Given the description of an element on the screen output the (x, y) to click on. 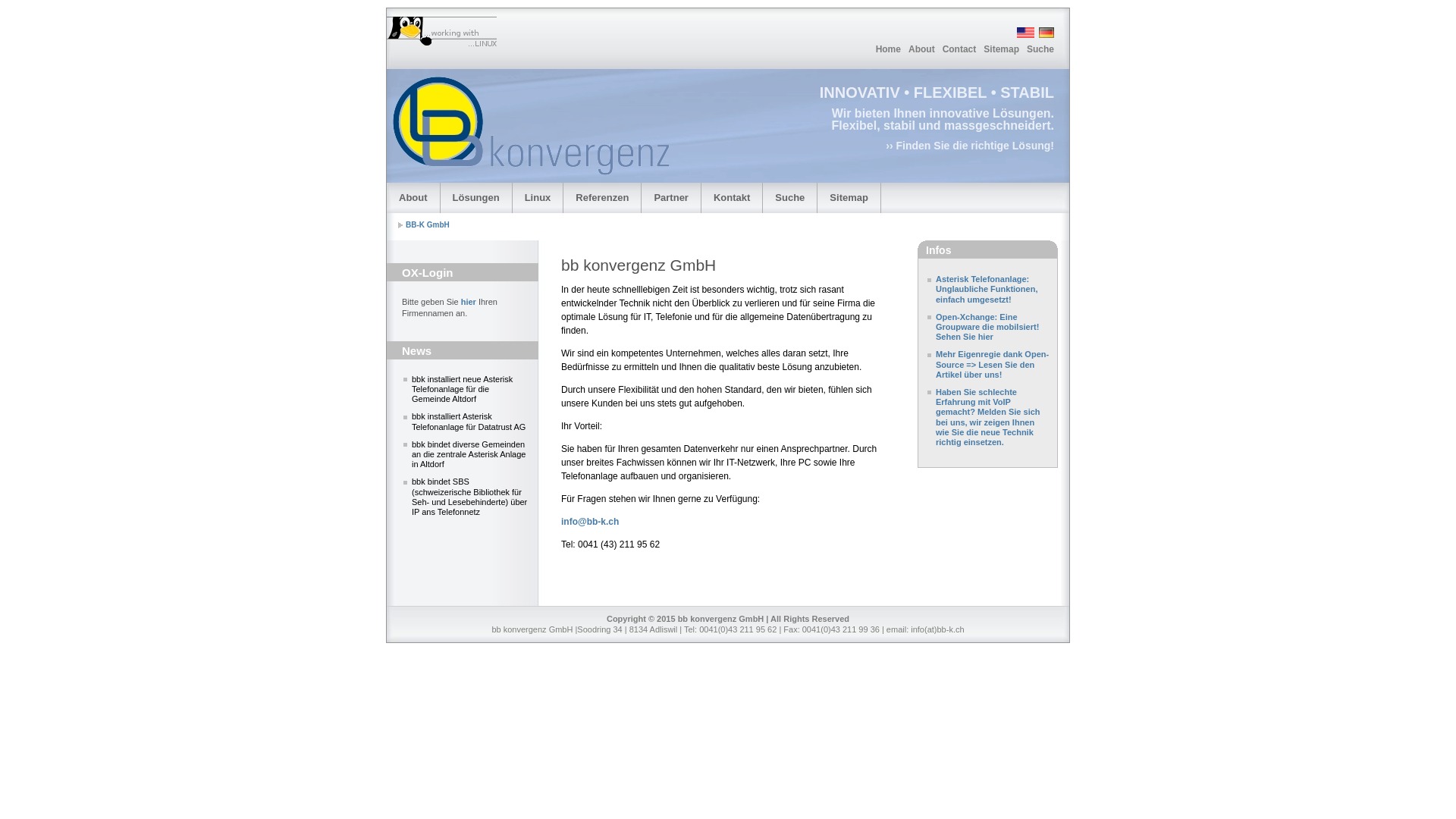
info@bb-k.ch Element type: text (589, 521)
Partner Element type: text (670, 197)
Kontakt Element type: text (731, 197)
Suche Element type: text (789, 197)
Linux Element type: text (537, 197)
Open-Xchange: Eine Groupware die mobilsiert! Sehen Sie hier Element type: text (986, 326)
Homepage auf Deutsch Element type: hover (1045, 35)
Go to Start page Element type: hover (424, 40)
About Element type: text (921, 49)
Home Element type: text (888, 49)
BB-K GmbH Element type: text (427, 224)
hier Element type: text (468, 301)
Website in english Element type: hover (1023, 35)
Sitemap Element type: text (848, 197)
About Element type: text (412, 197)
Sitemap Element type: text (1000, 49)
Referenzen Element type: text (601, 197)
Contact Element type: text (959, 49)
Suche Element type: text (1039, 49)
